Given the description of an element on the screen output the (x, y) to click on. 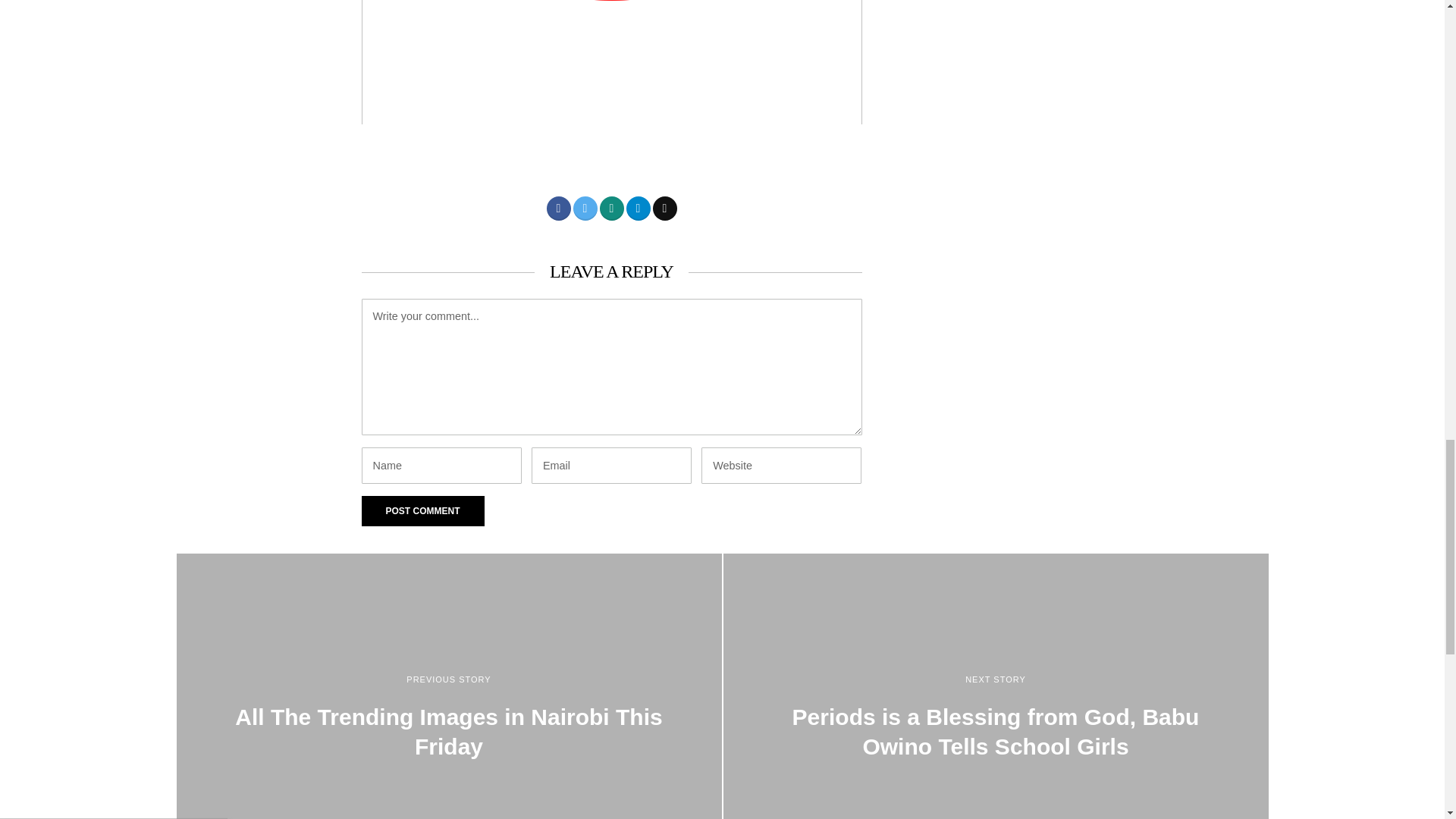
Post Comment (422, 511)
Post Comment (422, 511)
